Given the description of an element on the screen output the (x, y) to click on. 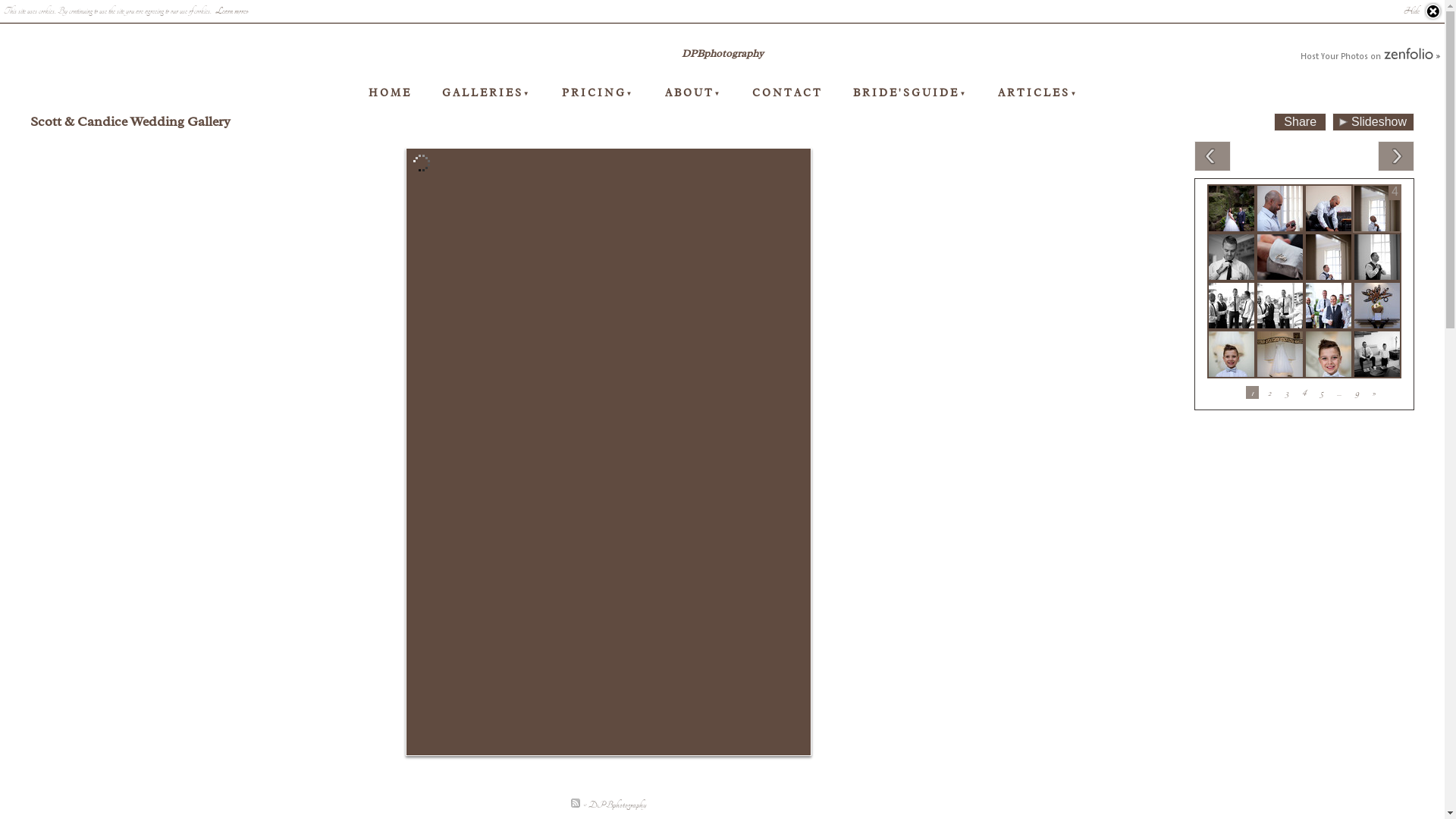
DPBphotography Element type: text (721, 53)
H O M E Element type: text (388, 92)
Scott & Candice Wedding Gallery Element type: text (130, 120)
4 Element type: text (1303, 392)
2 Element type: text (1268, 392)
C O N T A C T Element type: text (786, 92)
9 Element type: text (1356, 392)
... Element type: text (1338, 392)
4 Element type: text (1376, 208)
Next - type Right Arrow Element type: hover (1395, 156)
Hide Element type: text (1422, 11)
Host Your Photos on Zenfolio Element type: hover (1368, 55)
5 Element type: text (1321, 392)
Previous - type Left Arrow Element type: hover (1212, 156)
1 Element type: text (1252, 392)
3 Element type: text (1287, 392)
